Given the description of an element on the screen output the (x, y) to click on. 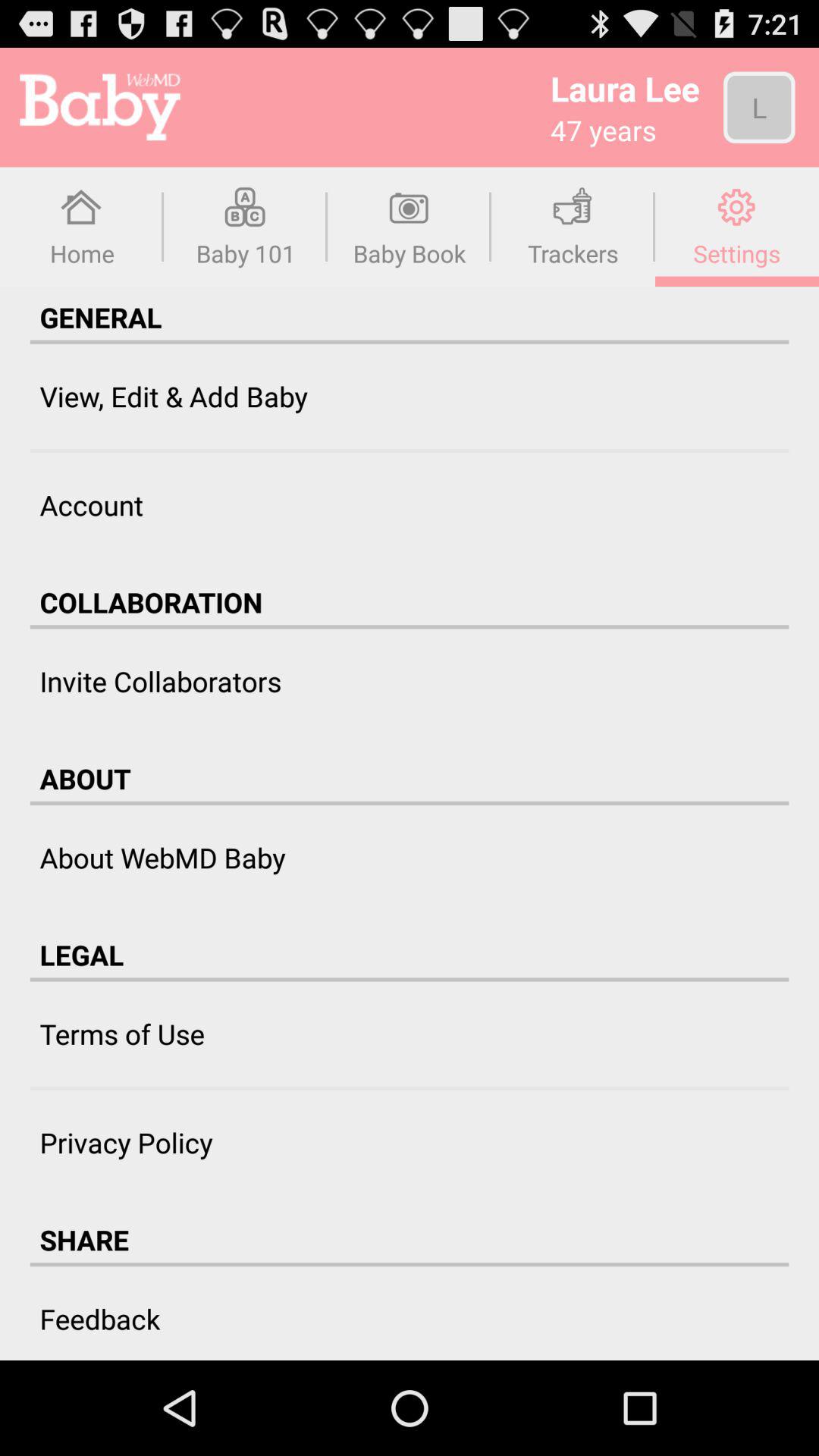
flip to about webmd baby (162, 857)
